Given the description of an element on the screen output the (x, y) to click on. 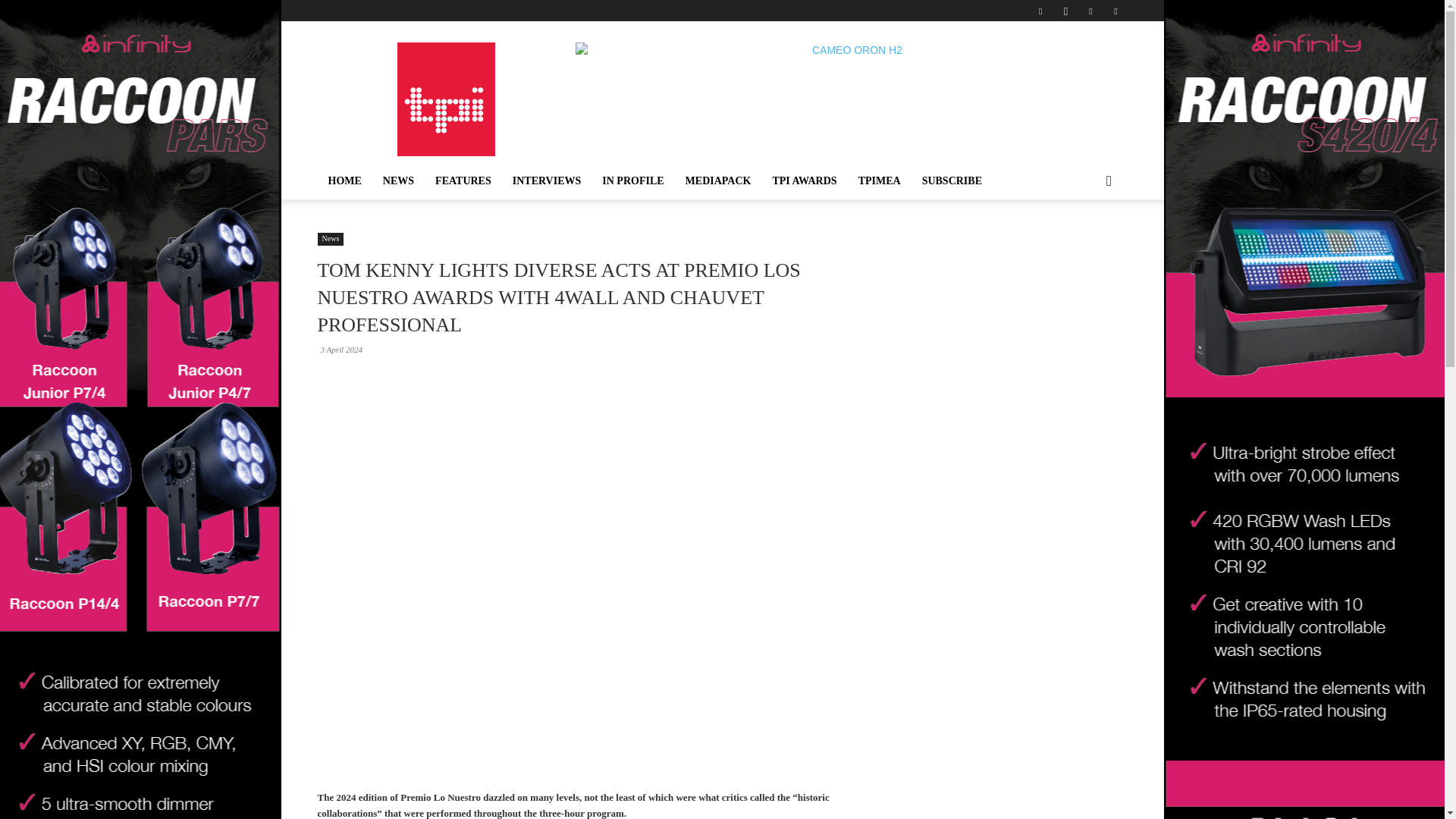
FEATURES (463, 180)
HOME (344, 180)
Facebook (1040, 10)
Youtube (1114, 10)
CAMEO ORON H2 (850, 76)
NEWS (398, 180)
MEDIAPACK (718, 180)
INTERVIEWS (547, 180)
IN PROFILE (632, 180)
Twitter (1090, 10)
